Given the description of an element on the screen output the (x, y) to click on. 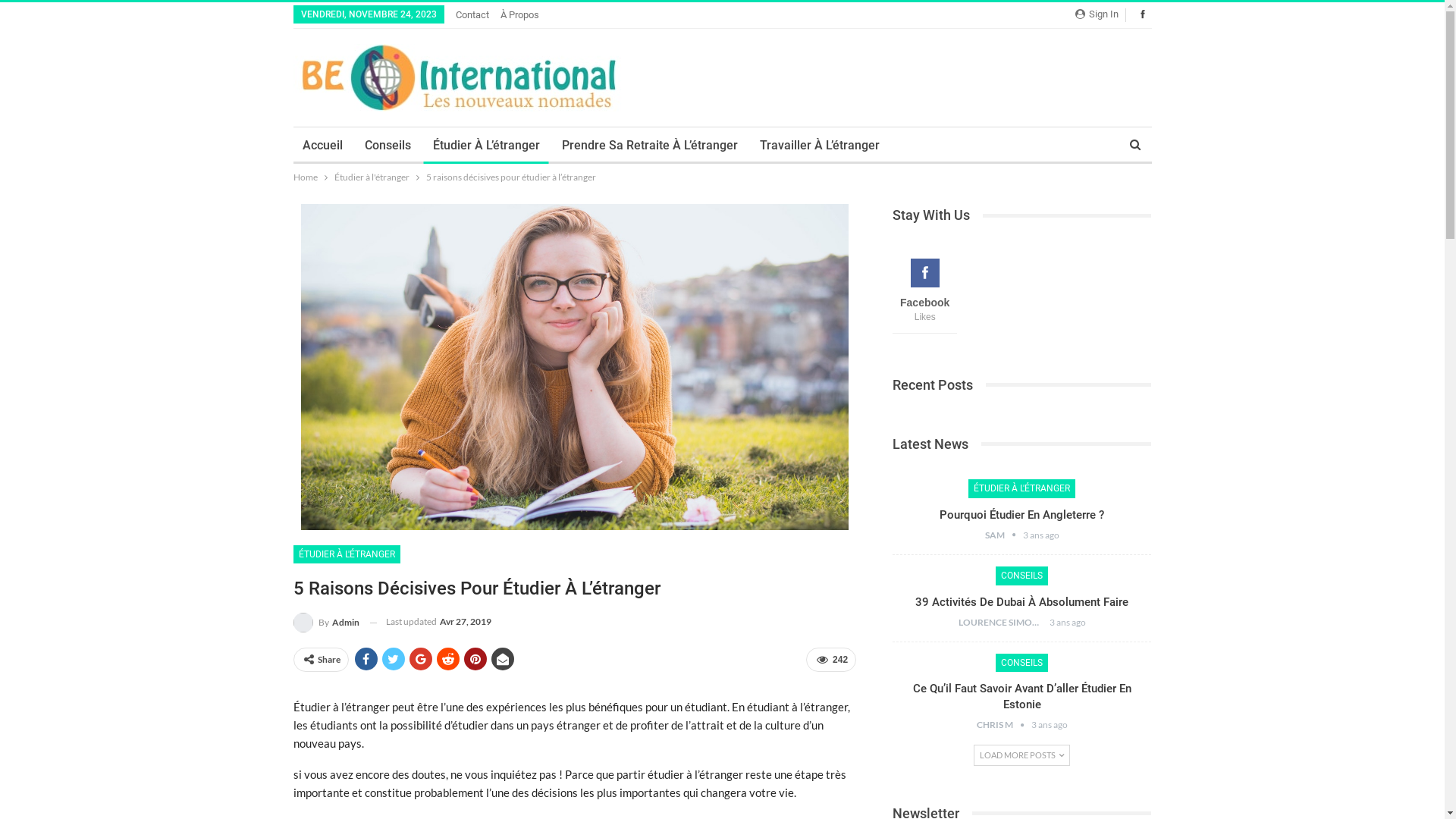
LOAD MORE POSTS Element type: text (1021, 754)
CONSEILS Element type: text (1021, 575)
Contact Element type: text (471, 14)
Conseils Element type: text (386, 145)
Facebook
Likes Element type: text (924, 296)
CONSEILS Element type: text (1021, 662)
SAM Element type: text (1003, 534)
By Admin Element type: text (325, 621)
Home Element type: text (304, 177)
Accueil Element type: text (321, 145)
CHRIS M Element type: text (1003, 724)
Sign In Element type: text (1099, 14)
LOURENCE SIMOE Element type: text (1003, 621)
